Given the description of an element on the screen output the (x, y) to click on. 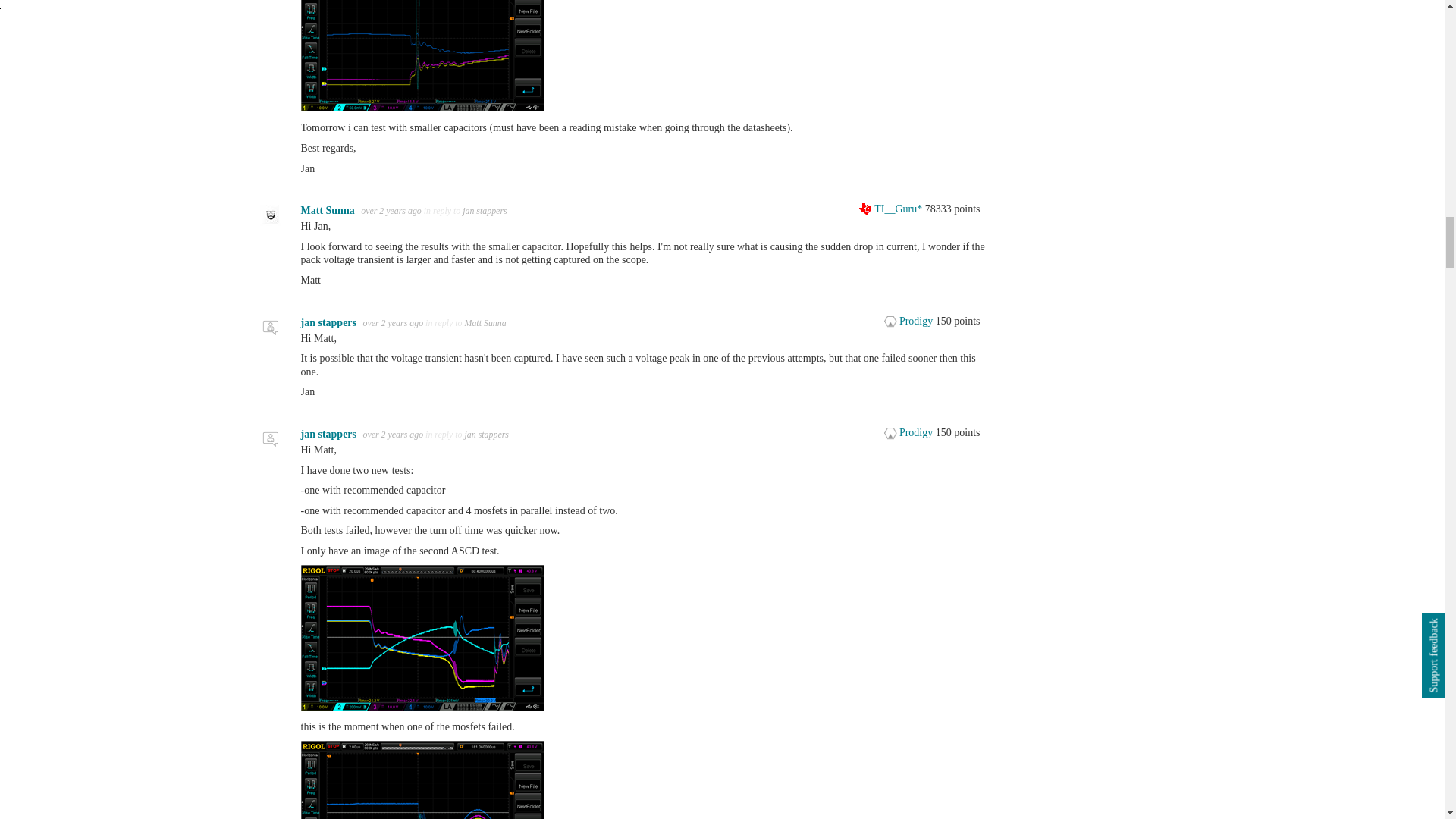
Click here for explanation of levels (909, 320)
Click here for explanation of levels (891, 208)
